Given the description of an element on the screen output the (x, y) to click on. 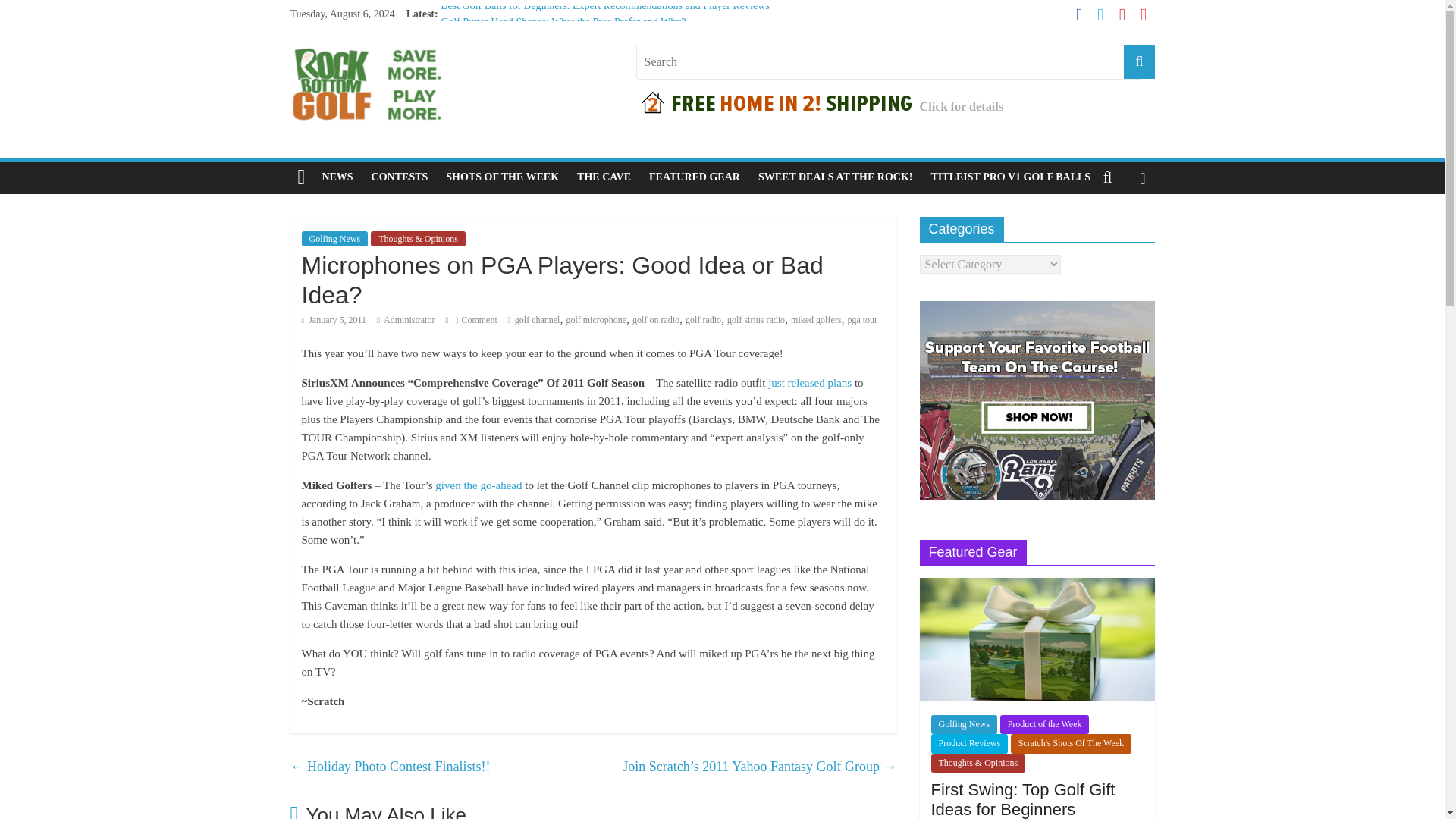
NEWS (337, 177)
golf microphone (596, 319)
Golf Putter Head Shapes: What the Pros Prefer and Why? (563, 21)
CONTESTS (400, 177)
given the go-ahead (478, 485)
SWEET DEALS AT THE ROCK! (835, 177)
Golf Putter Head Shapes: What the Pros Prefer and Why? (563, 21)
golf radio (702, 319)
Golfing News (334, 238)
